Given the description of an element on the screen output the (x, y) to click on. 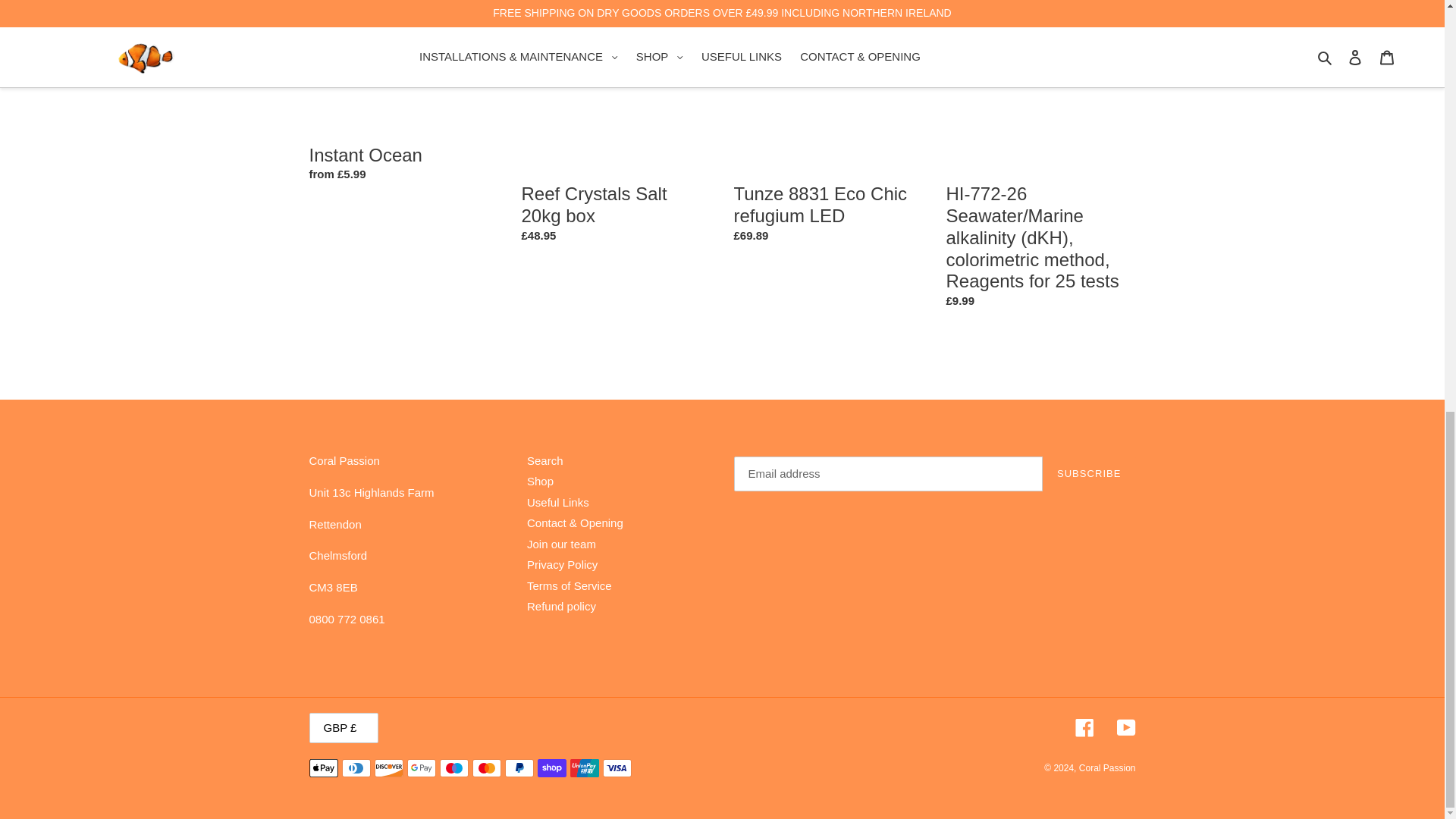
Diners Club (354, 768)
Discover (388, 768)
PayPal (519, 768)
Google Pay (420, 768)
Shop Pay (551, 768)
Union Pay (584, 768)
Apple Pay (322, 768)
Mastercard (485, 768)
Maestro (453, 768)
Visa (616, 768)
